Given the description of an element on the screen output the (x, y) to click on. 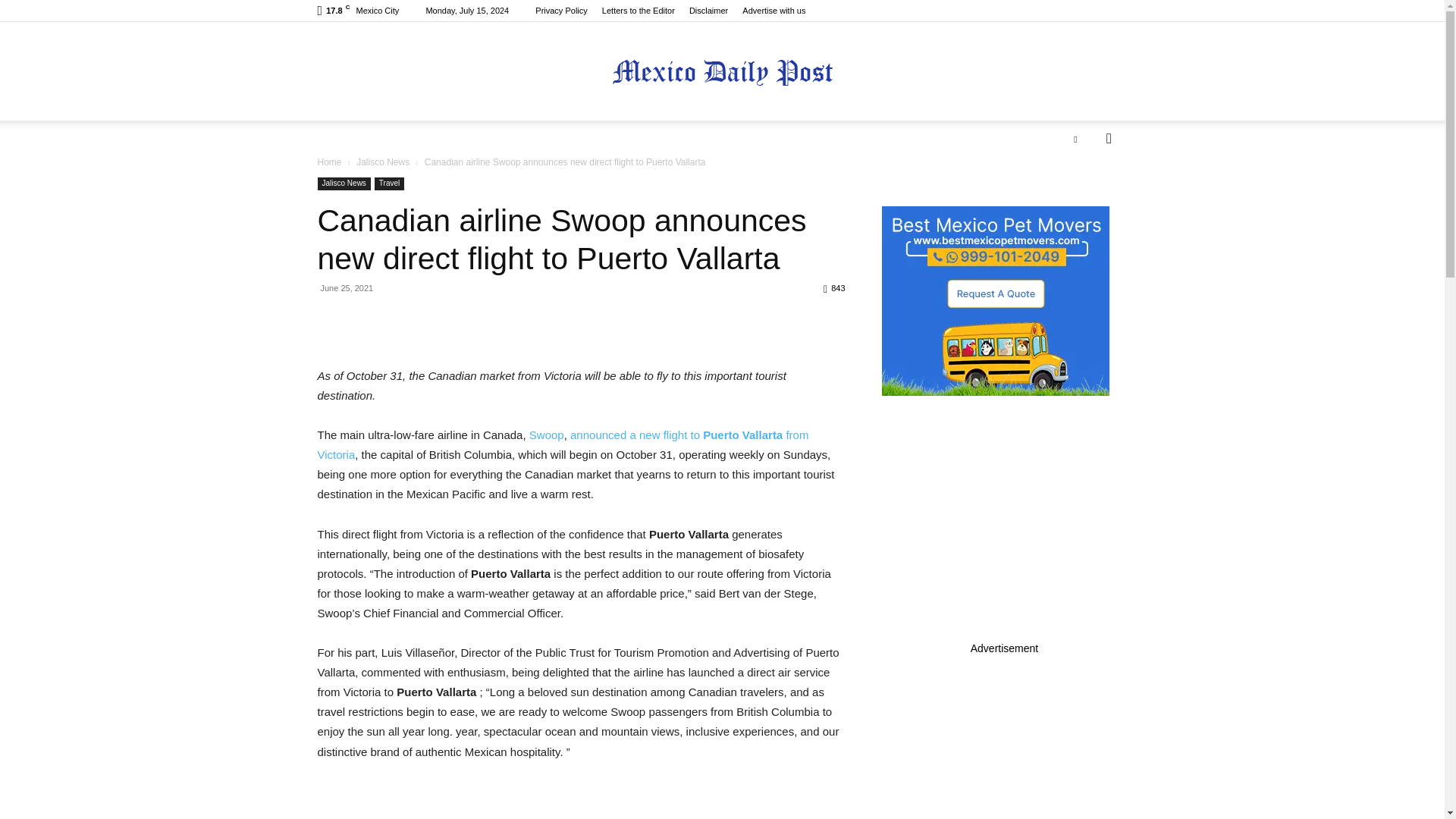
Travel (389, 183)
Mexico Daily Post (721, 72)
Jalisco News (343, 183)
Disclaimer (708, 10)
Jalisco News (382, 162)
Letters to the Editor (638, 10)
Search (1085, 199)
Advertise with us (773, 10)
announced a new flight to Puerto Vallarta from Victoria (562, 444)
Home (328, 162)
Privacy Policy (560, 10)
View all posts in Jalisco News (382, 162)
 Swoop (544, 434)
